Given the description of an element on the screen output the (x, y) to click on. 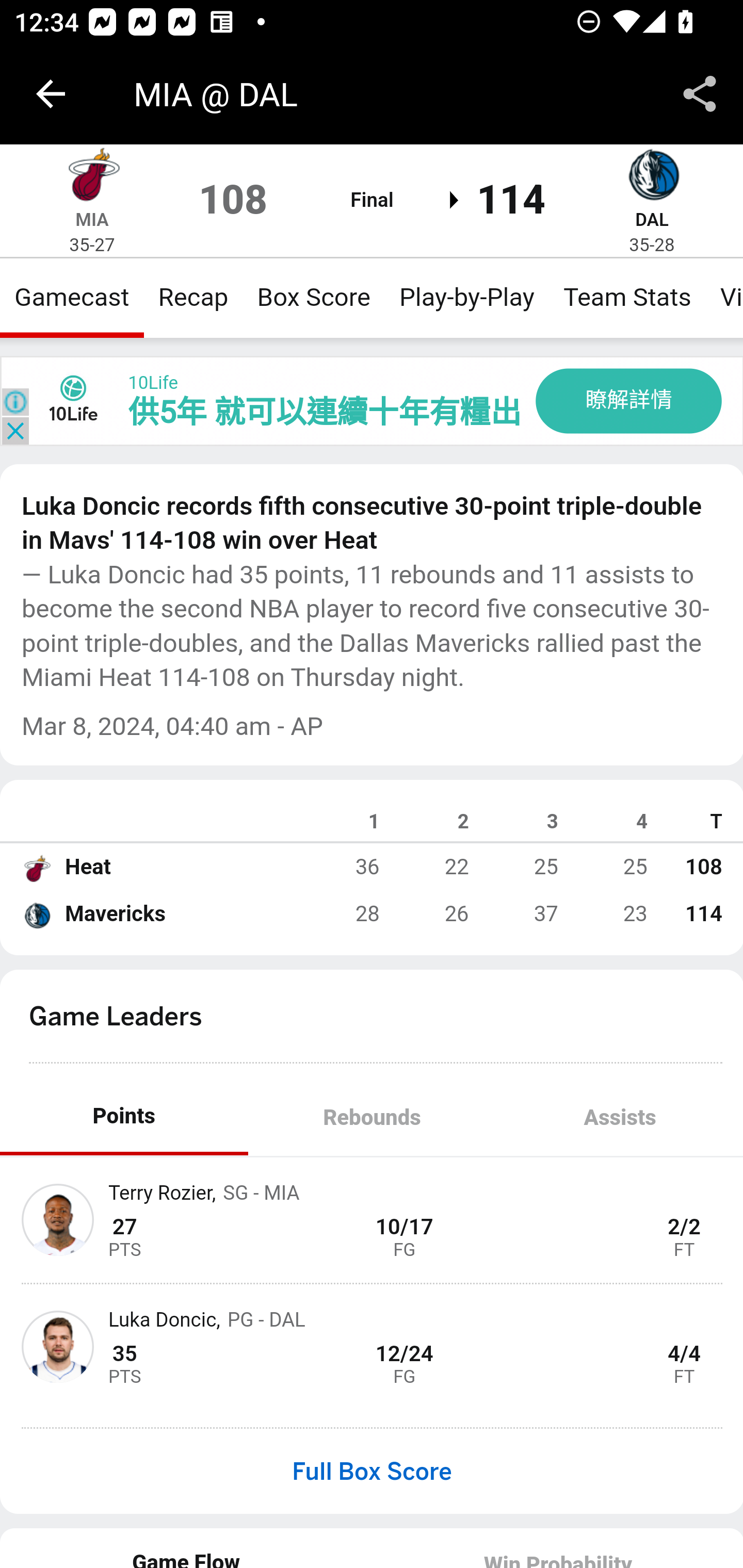
Navigate up (50, 93)
Share (699, 93)
Miami Heat (91, 173)
Dallas Mavericks (651, 173)
MIA (91, 219)
DAL (651, 219)
Gamecast (72, 296)
Recap (192, 296)
Box Score (314, 296)
Play-by-Play (466, 296)
Team Stats (627, 296)
瞭解詳情 (628, 400)
10Life (152, 382)
供5年 就可以連續十年有糧出 (323, 412)
Miami Heat (36, 866)
Dallas Mavericks (36, 913)
Points (124, 1117)
Rebounds (371, 1117)
Assists (618, 1117)
Full Box Score (371, 1471)
